Given the description of an element on the screen output the (x, y) to click on. 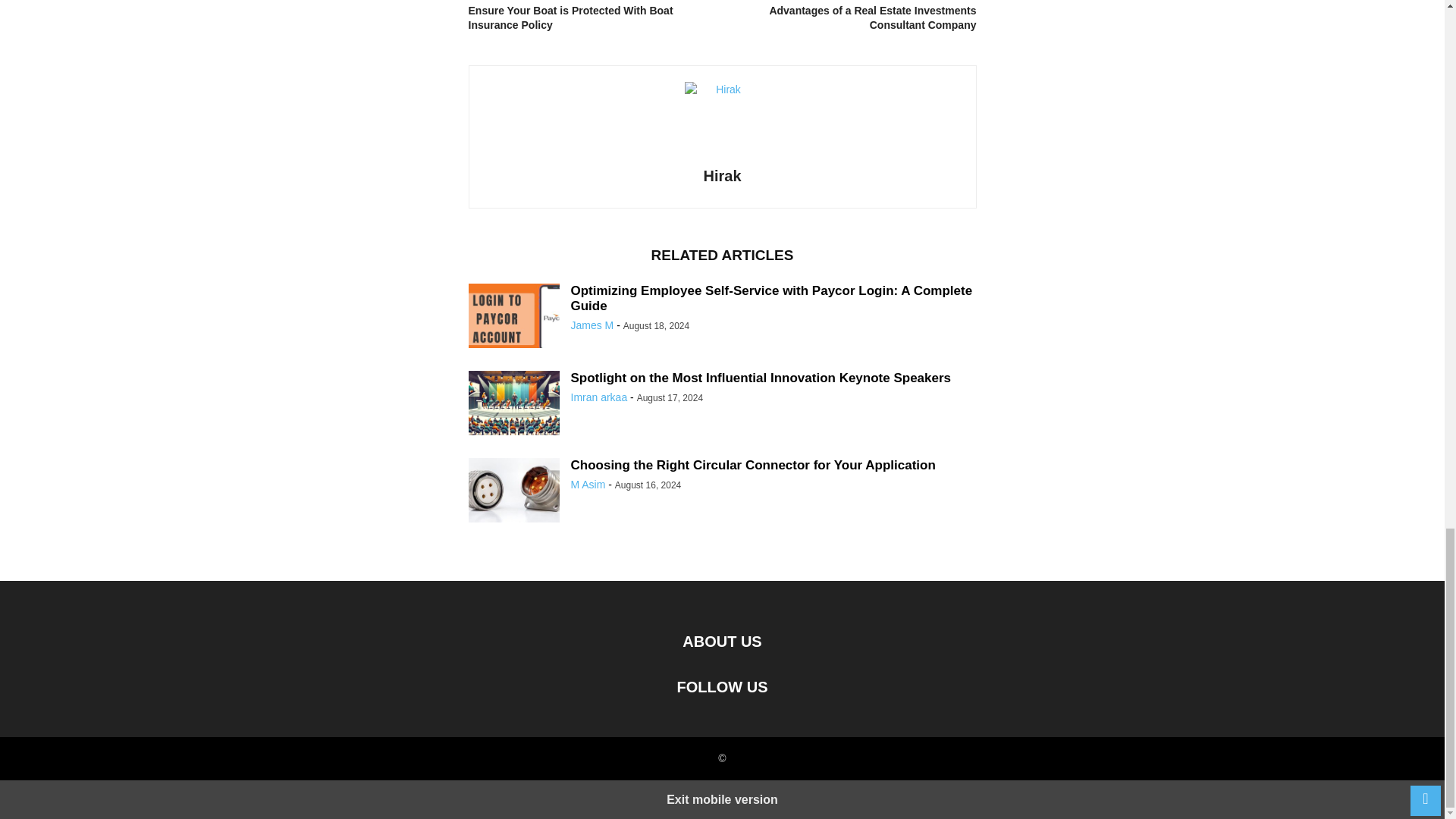
Choosing the Right Circular Connector for Your Application (752, 464)
Hirak (722, 175)
James M (591, 325)
Imran arkaa (598, 397)
M Asim (587, 484)
Advantages of a Real Estate Investments Consultant Company (852, 18)
Ensure Your Boat is Protected With Boat Insurance Policy (591, 18)
